Given the description of an element on the screen output the (x, y) to click on. 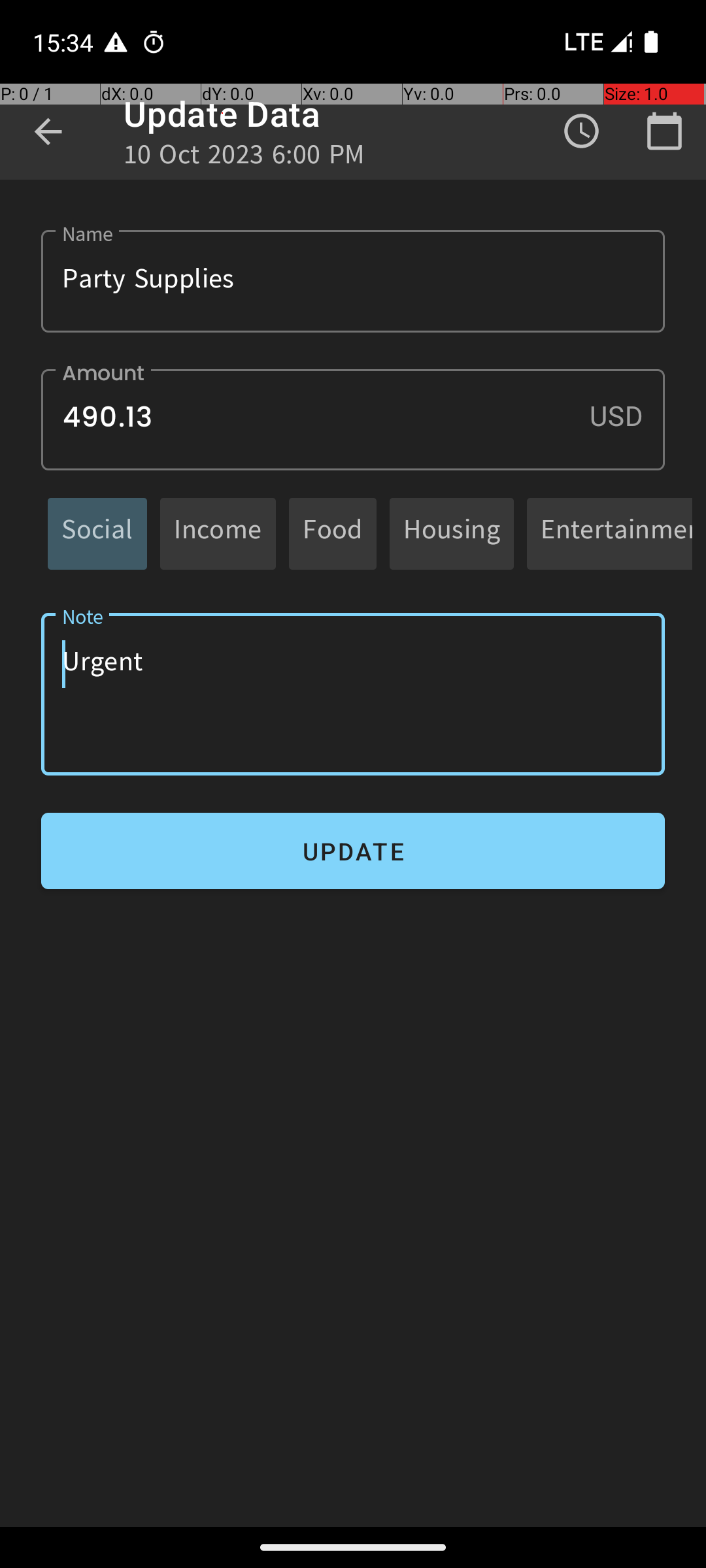
Update Data Element type: android.widget.TextView (221, 113)
10 Oct 2023 6:00 PM Element type: android.widget.TextView (244, 157)
Party Supplies Element type: android.widget.EditText (352, 280)
490.13 Element type: android.widget.EditText (352, 419)
Urgent Element type: android.widget.EditText (352, 693)
UPDATE Element type: android.widget.Button (352, 850)
